Given the description of an element on the screen output the (x, y) to click on. 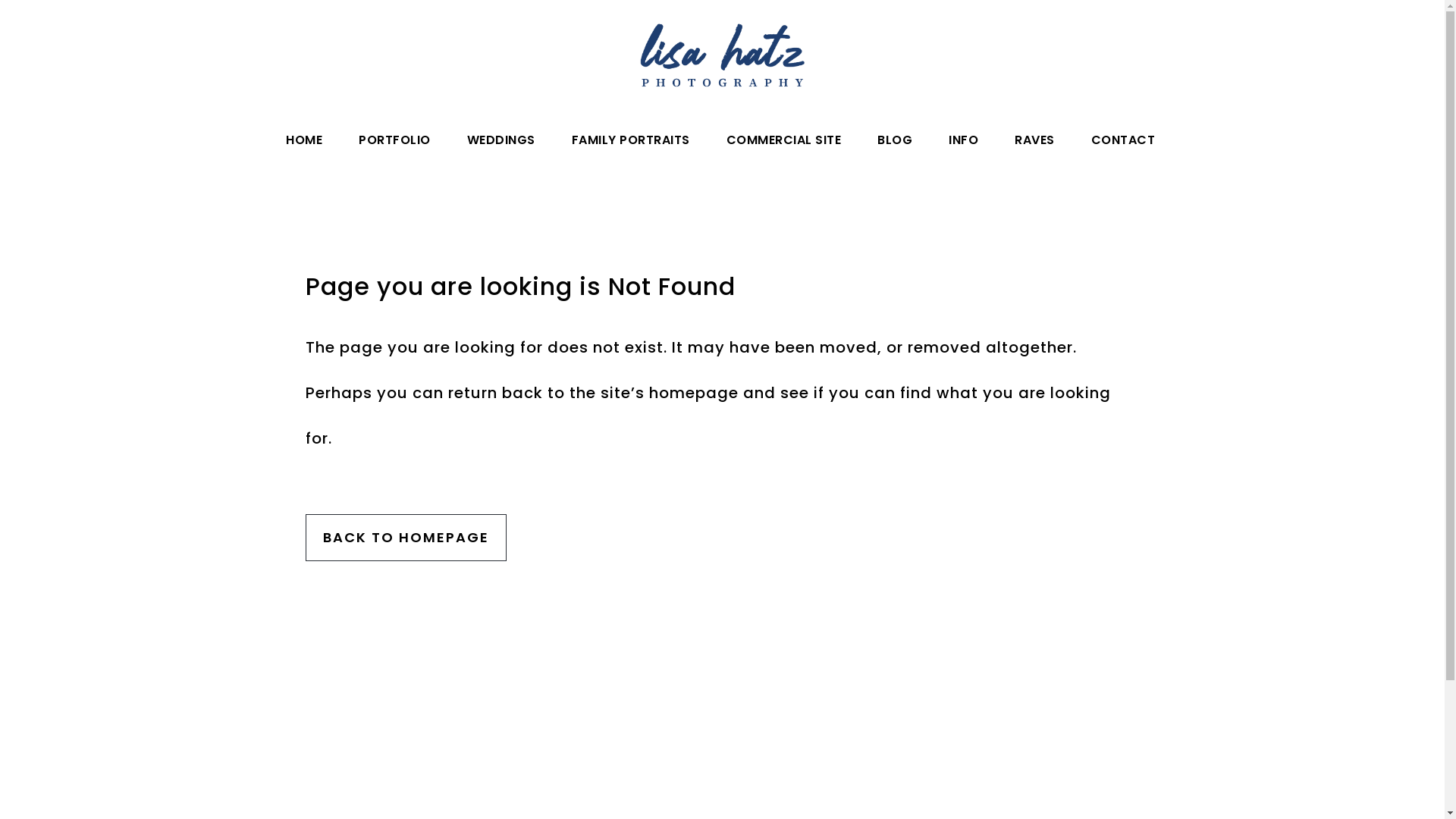
CONTACT Element type: text (1122, 140)
BACK TO HOMEPAGE Element type: text (404, 537)
BLOG Element type: text (894, 140)
INFO Element type: text (963, 140)
WEDDINGS Element type: text (500, 140)
RAVES Element type: text (1034, 140)
COMMERCIAL SITE Element type: text (783, 140)
PORTFOLIO Element type: text (394, 140)
HOME Element type: text (303, 140)
FAMILY PORTRAITS Element type: text (630, 140)
